Given the description of an element on the screen output the (x, y) to click on. 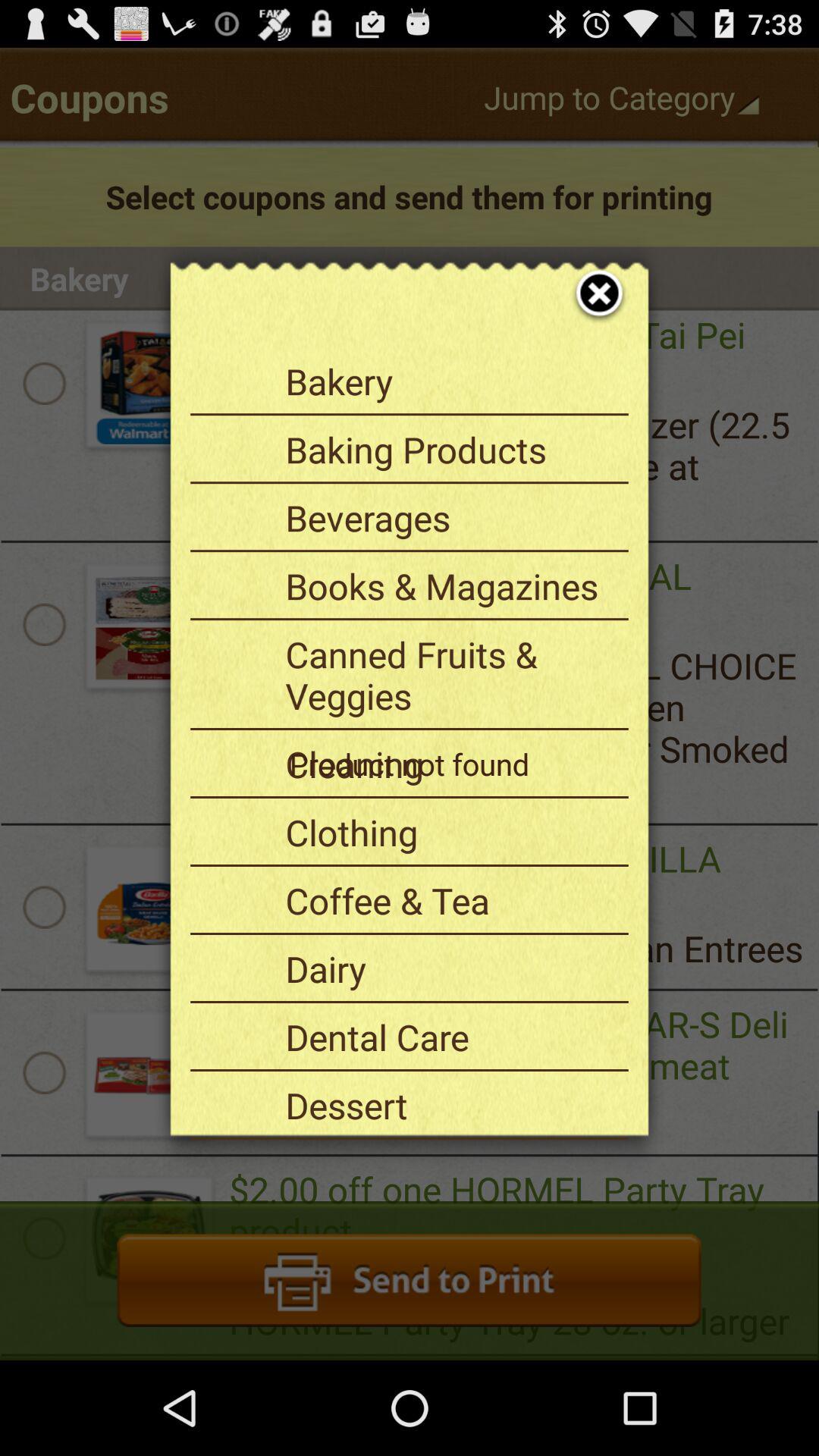
turn off the icon above the fruits & veggies item (451, 1104)
